Given the description of an element on the screen output the (x, y) to click on. 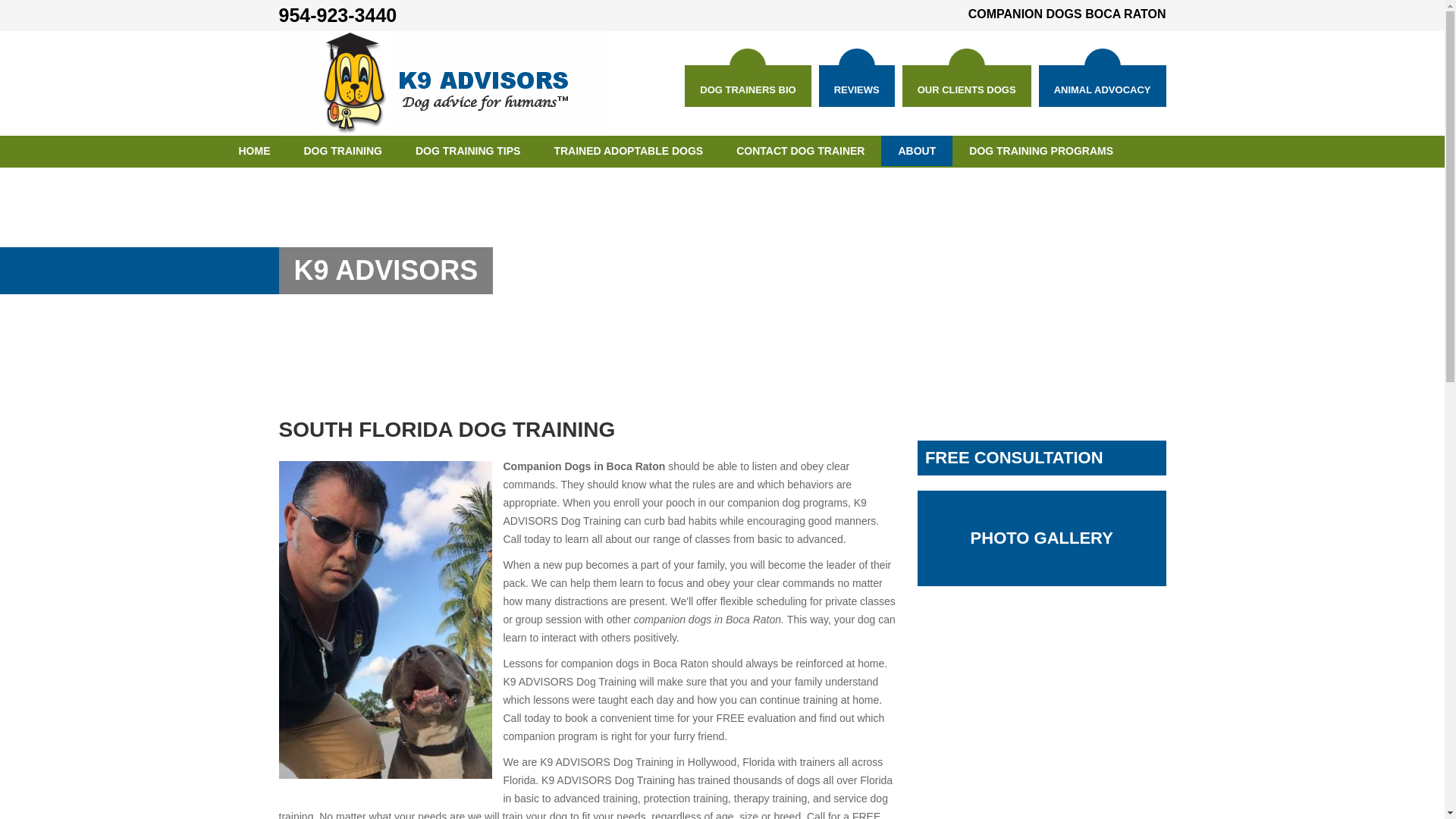
ABOUT (916, 150)
PHOTO GALLERY (1041, 538)
OUR CLIENTS DOGS (966, 86)
HOME (253, 150)
DOG TRAINING PROGRAMS (1040, 150)
DOG TRAINERS BIO (747, 86)
REVIEWS (856, 86)
TRAINED ADOPTABLE DOGS (628, 150)
CONTACT DOG TRAINER (799, 150)
DOG TRAINING (341, 150)
